Given the description of an element on the screen output the (x, y) to click on. 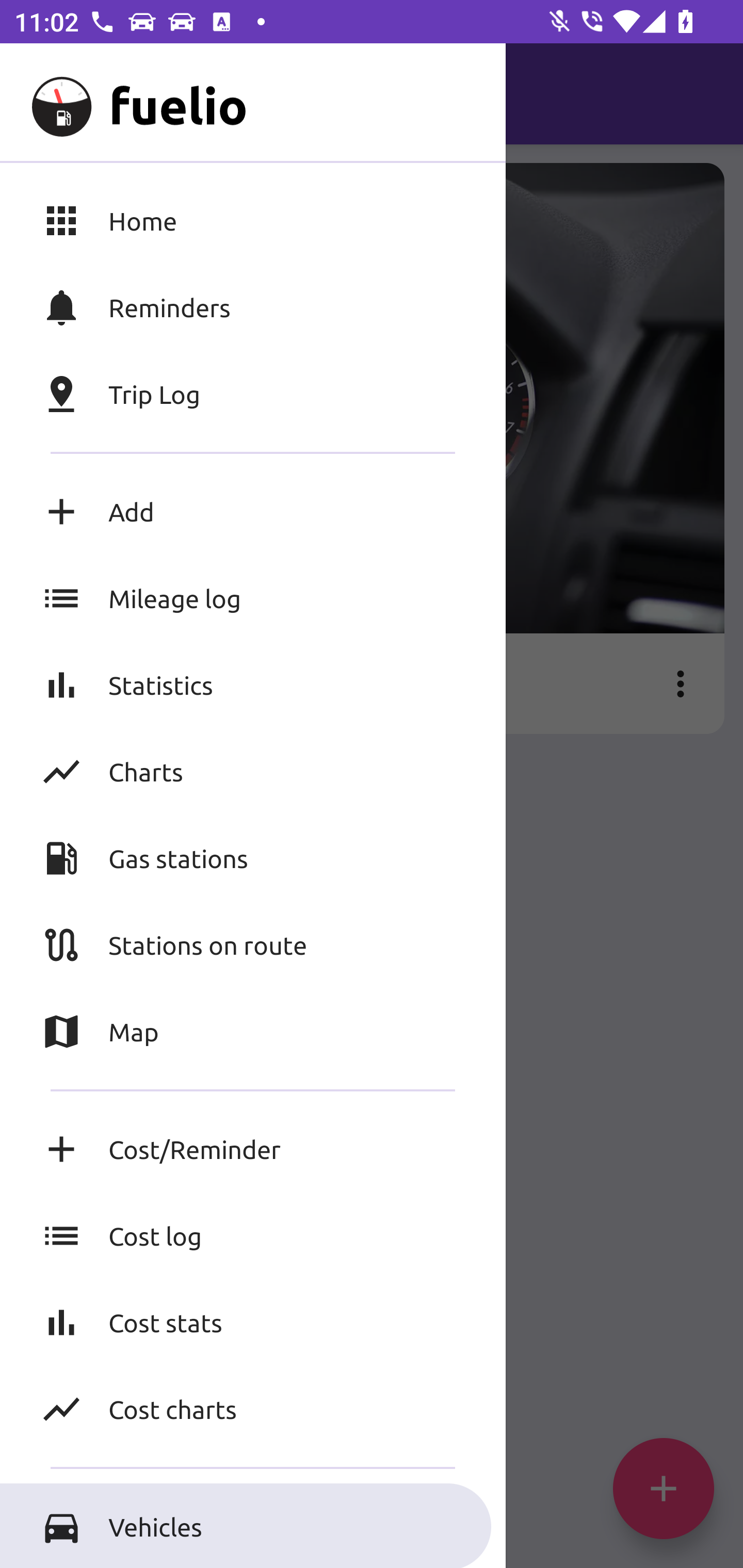
MenuDrawer (50, 93)
Home (252, 220)
Reminders (252, 307)
Trip Log (252, 394)
Add (252, 511)
Mileage log (252, 598)
Statistics (252, 684)
Charts (252, 771)
Gas stations (252, 858)
Stations on route (252, 944)
Map (252, 1031)
Cost/Reminder (252, 1149)
Cost log (252, 1236)
Cost stats (252, 1322)
Cost charts (252, 1408)
Vehicles (252, 1525)
